Given the description of an element on the screen output the (x, y) to click on. 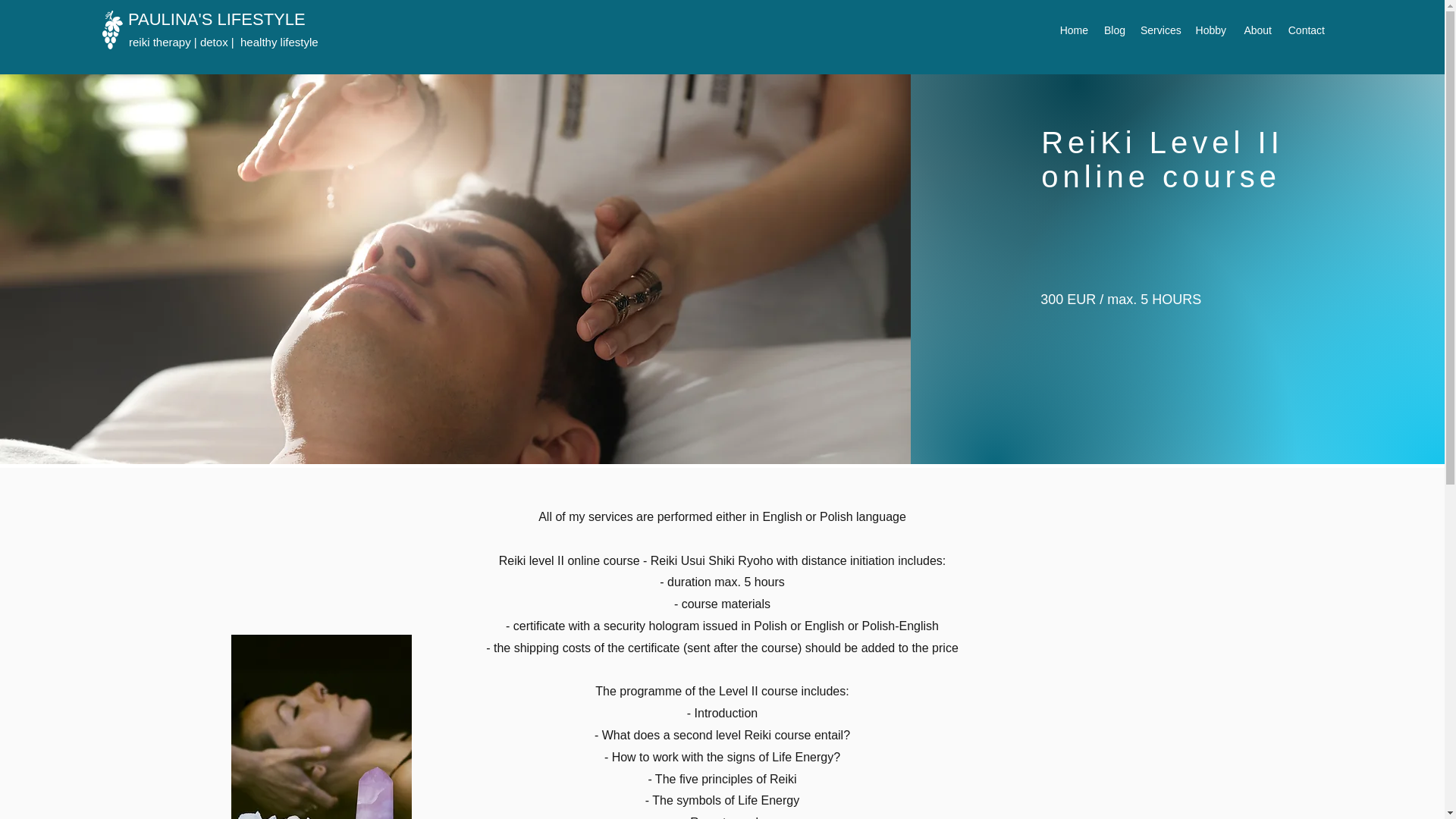
Contact (1305, 29)
PAULINA'S LIFESTYLE (216, 18)
Home (1073, 29)
Services (1159, 29)
About (1256, 29)
Blog (1114, 29)
